Given the description of an element on the screen output the (x, y) to click on. 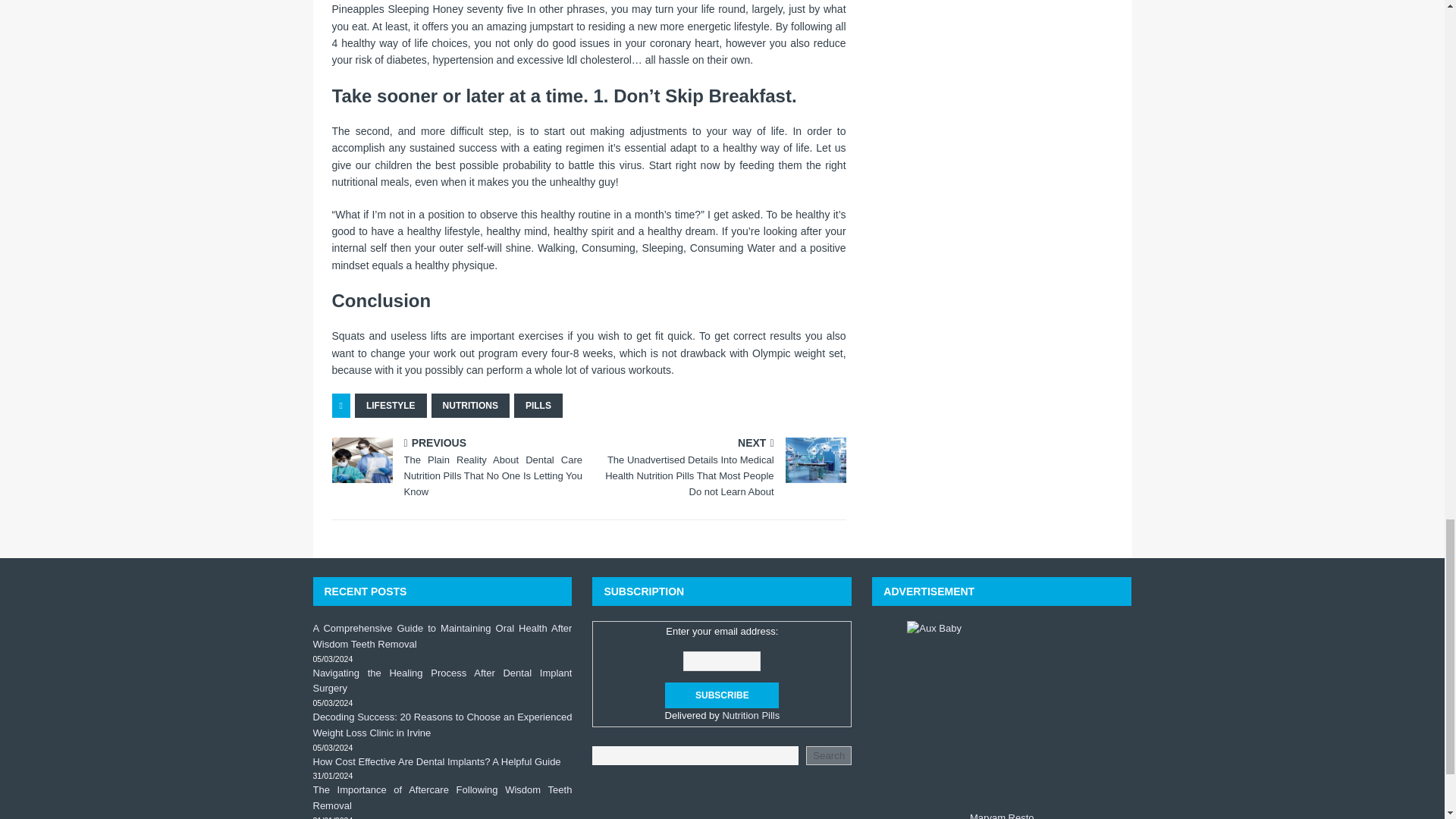
NUTRITIONS (469, 405)
PILLS (537, 405)
LIFESTYLE (390, 405)
Subscribe (721, 695)
